Given the description of an element on the screen output the (x, y) to click on. 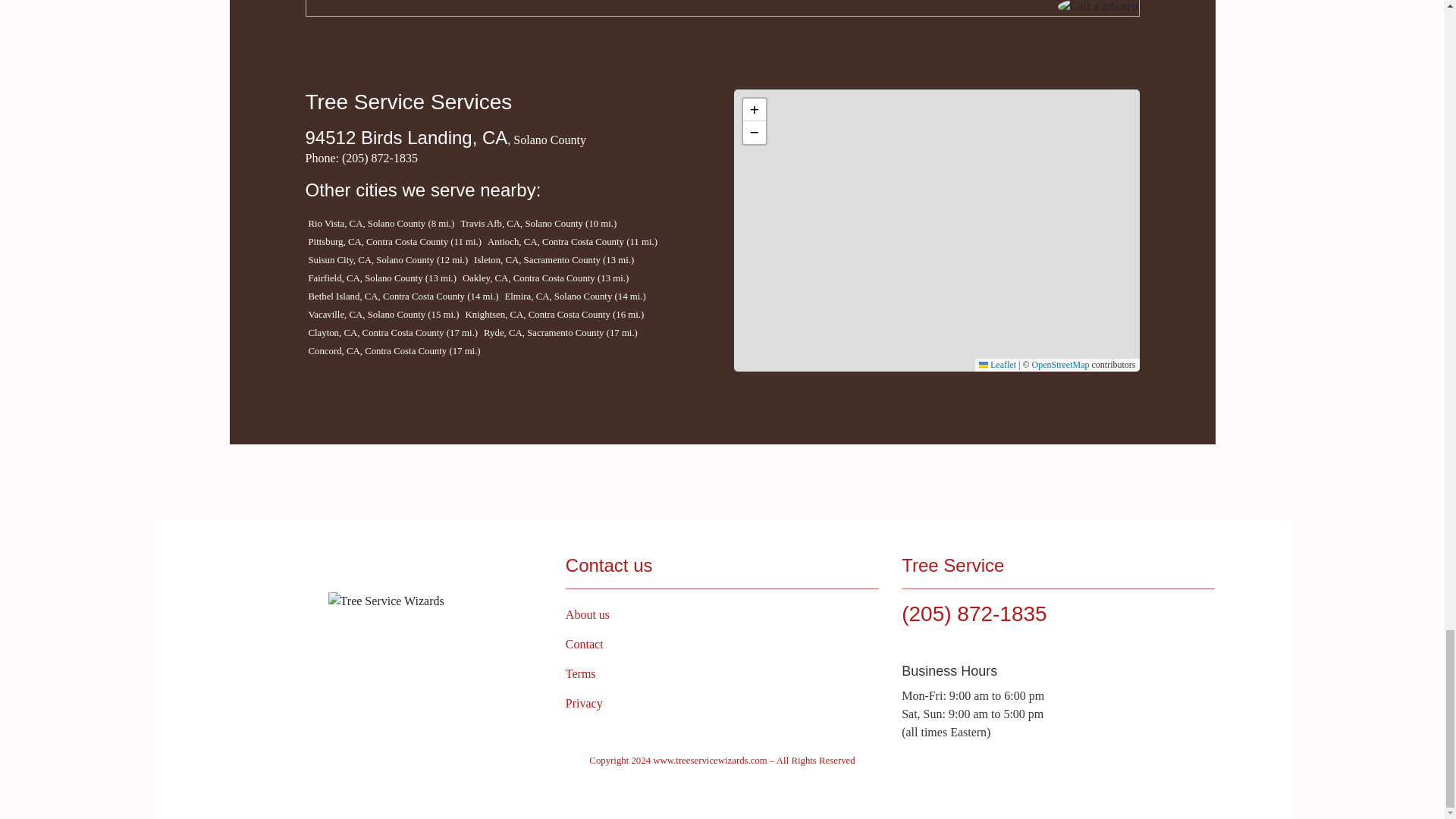
Leaflet (997, 364)
Vacaville, CA, Solano County (367, 314)
Bethel Island, CA, Contra Costa County (387, 296)
Call a arborist (1098, 7)
Elmira, CA, Solano County (558, 296)
Ryde, CA, Sacramento County (545, 332)
Pittsburg, CA, Contra Costa County (378, 241)
Suisun City, CA, Solano County (371, 259)
Fairfield, CA, Solano County (366, 277)
Travis Afb, CA, Solano County (522, 223)
